Given the description of an element on the screen output the (x, y) to click on. 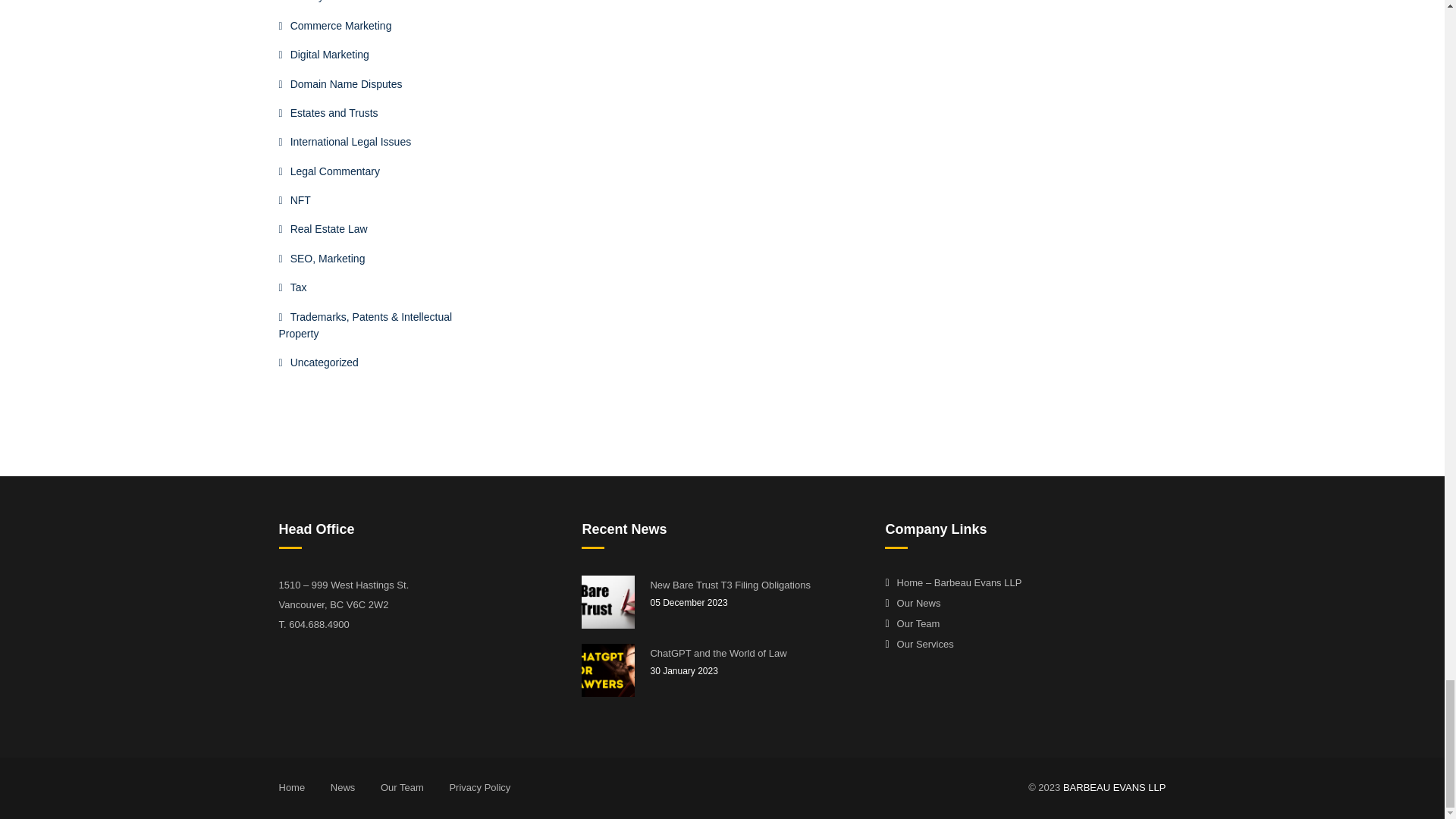
ChatGPT and the World of Law (755, 653)
ChatGPT and the World of Law (607, 669)
New Bare Trust T3 Filing Obligations (755, 585)
New Bare Trust T3 Filing Obligations (607, 601)
